Given the description of an element on the screen output the (x, y) to click on. 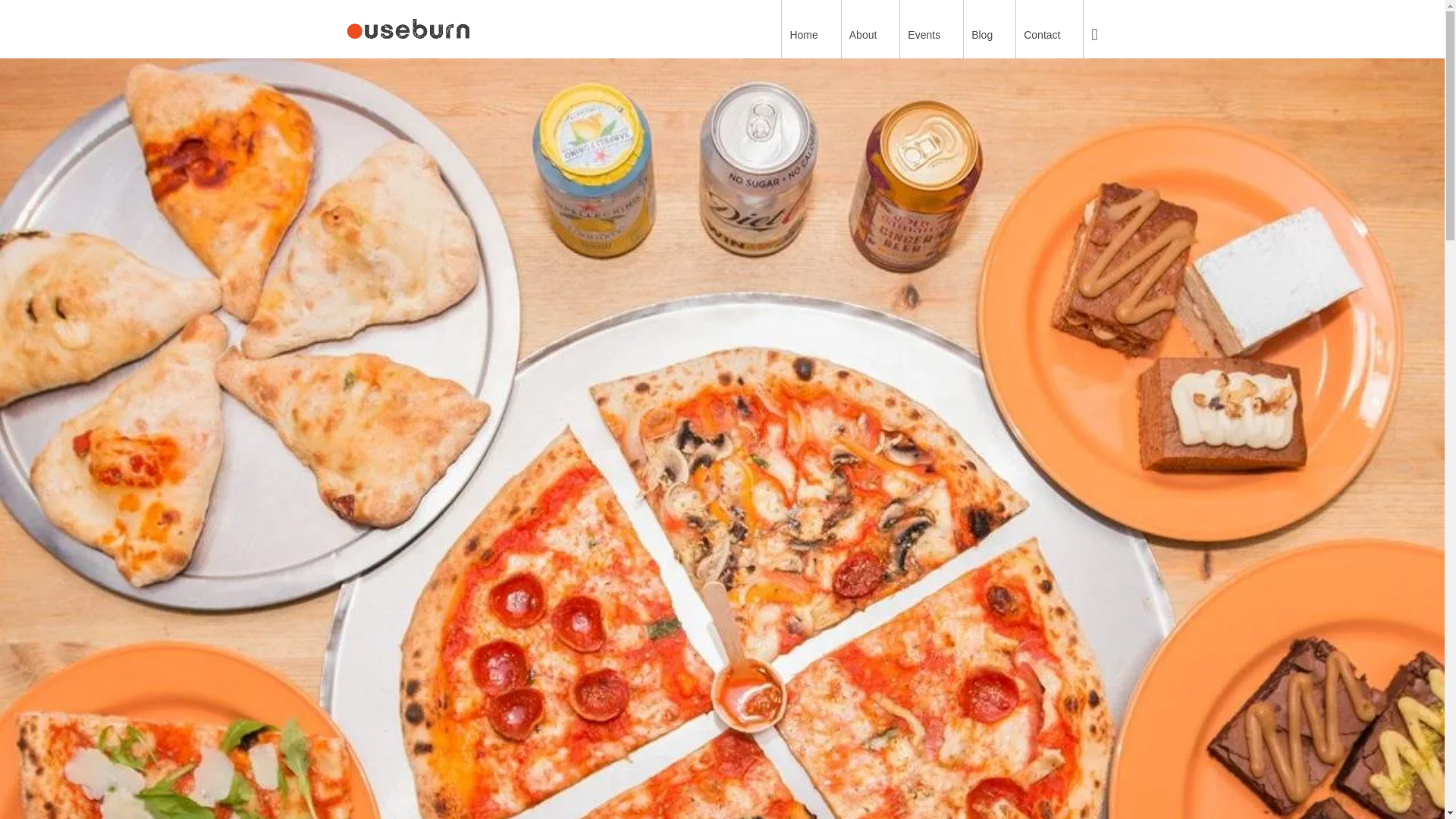
Contact (1049, 29)
About (870, 29)
Events (930, 29)
Home (810, 29)
